Given the description of an element on the screen output the (x, y) to click on. 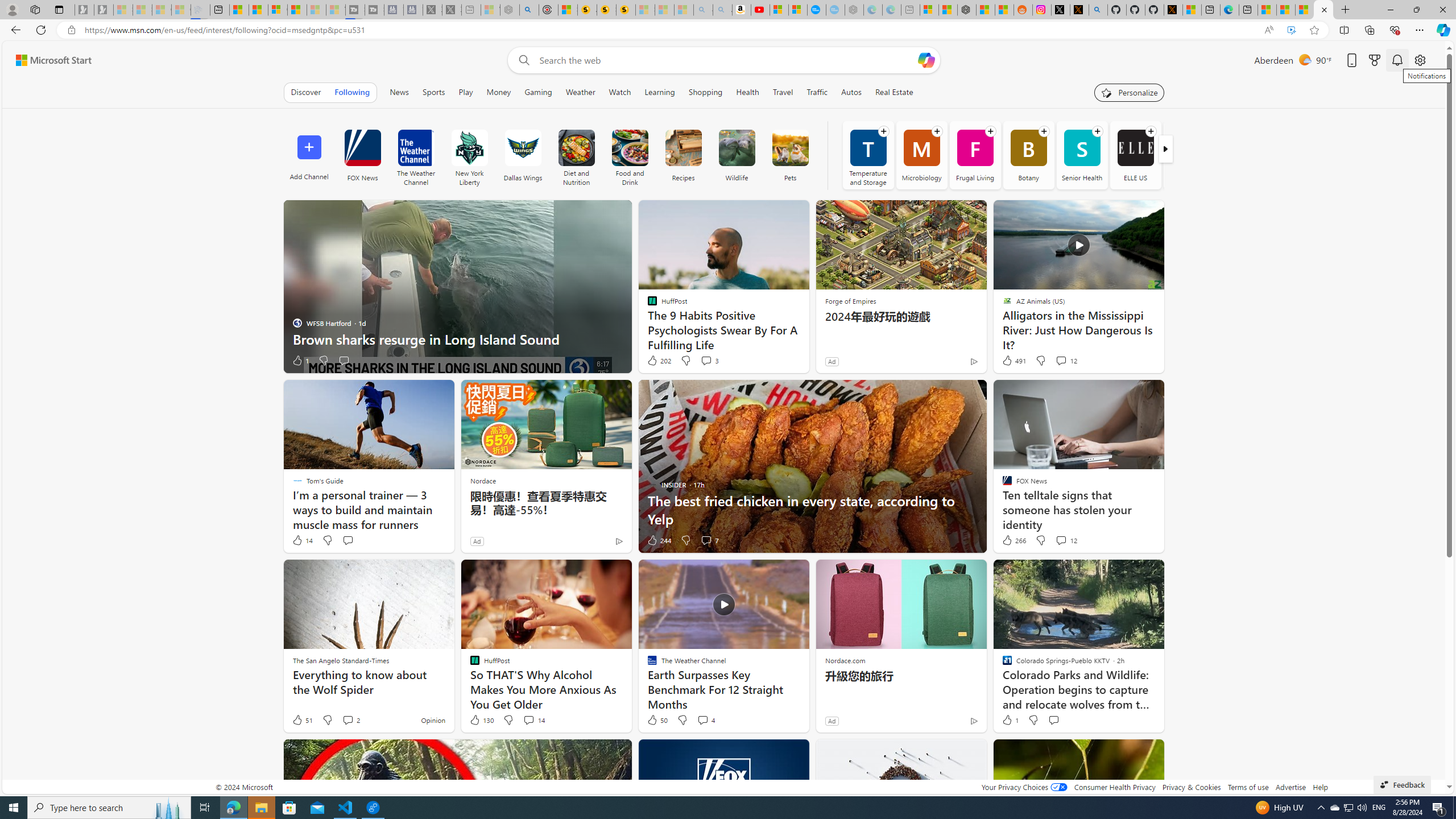
Enter your search term (726, 59)
50 Like (657, 719)
14 Like (301, 539)
Temperature and Storage (868, 155)
Diet and Nutrition (576, 155)
Recipes (683, 147)
Wildlife (736, 155)
Follow channel (1150, 130)
Overview (277, 9)
